Given the description of an element on the screen output the (x, y) to click on. 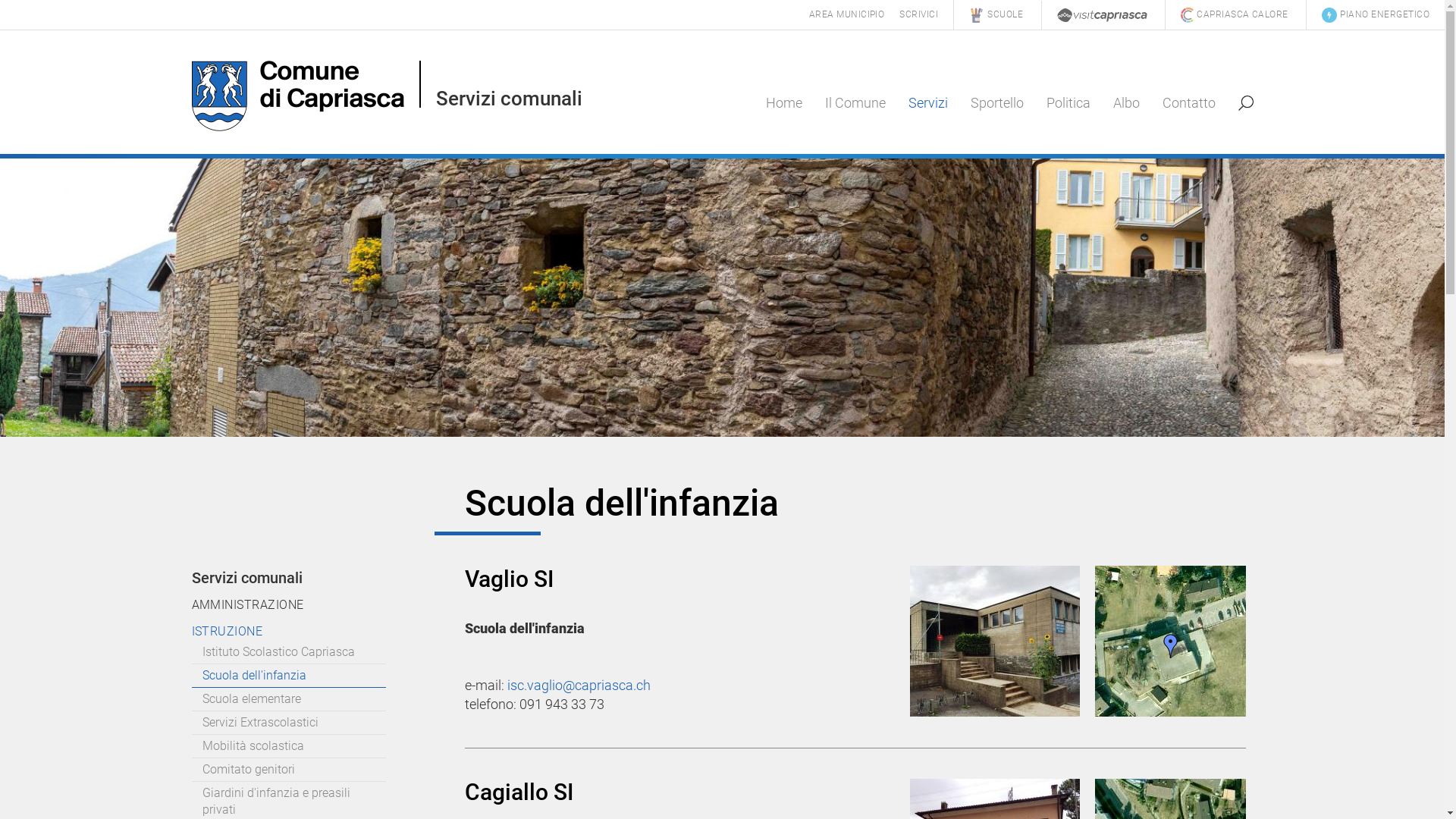
Home Element type: text (782, 102)
Scuola elementare Element type: text (288, 699)
Servizi Element type: text (927, 102)
Servizi Extrascolastici Element type: text (288, 722)
SCRIVICI Element type: text (918, 14)
Comitato genitori Element type: text (288, 769)
CAPRIASCA CALORE Element type: text (1234, 14)
Scuola dell'infanzia Element type: text (288, 675)
AMMINISTRAZIONE Element type: text (312, 604)
Contatto Element type: text (1188, 102)
AREA MUNICIPIO Element type: text (846, 14)
ISTRUZIONE Element type: text (312, 630)
Istituto Scolastico Capriasca Element type: text (288, 652)
Politica Element type: text (1067, 102)
PIANO ENERGETICO Element type: text (1375, 14)
Cerca nel sito Element type: hover (1244, 102)
Sportello Element type: text (996, 102)
SCUOLE Element type: text (995, 14)
Il Comune Element type: text (854, 102)
Albo Element type: text (1125, 102)
isc.vaglio@capriasca.ch Element type: text (577, 685)
